Given the description of an element on the screen output the (x, y) to click on. 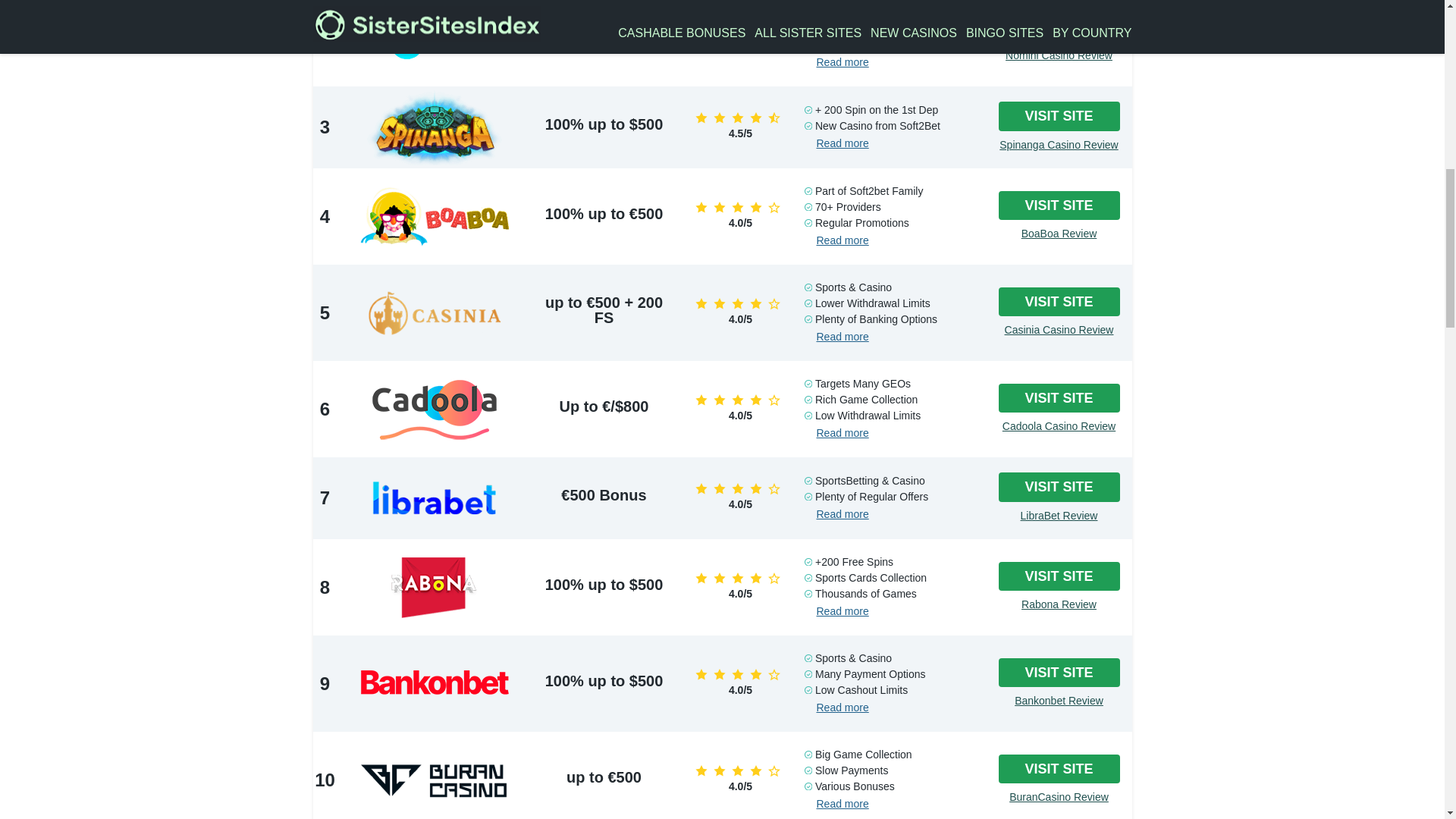
VISIT SITE (1058, 116)
Spinanga Casino Review (1058, 145)
Read more (841, 240)
Read more (841, 143)
VISIT SITE (1058, 205)
Nomini Casino Review (1058, 55)
BoaBoa Review (1058, 233)
Read more (841, 61)
VISIT SITE (1058, 27)
